Given the description of an element on the screen output the (x, y) to click on. 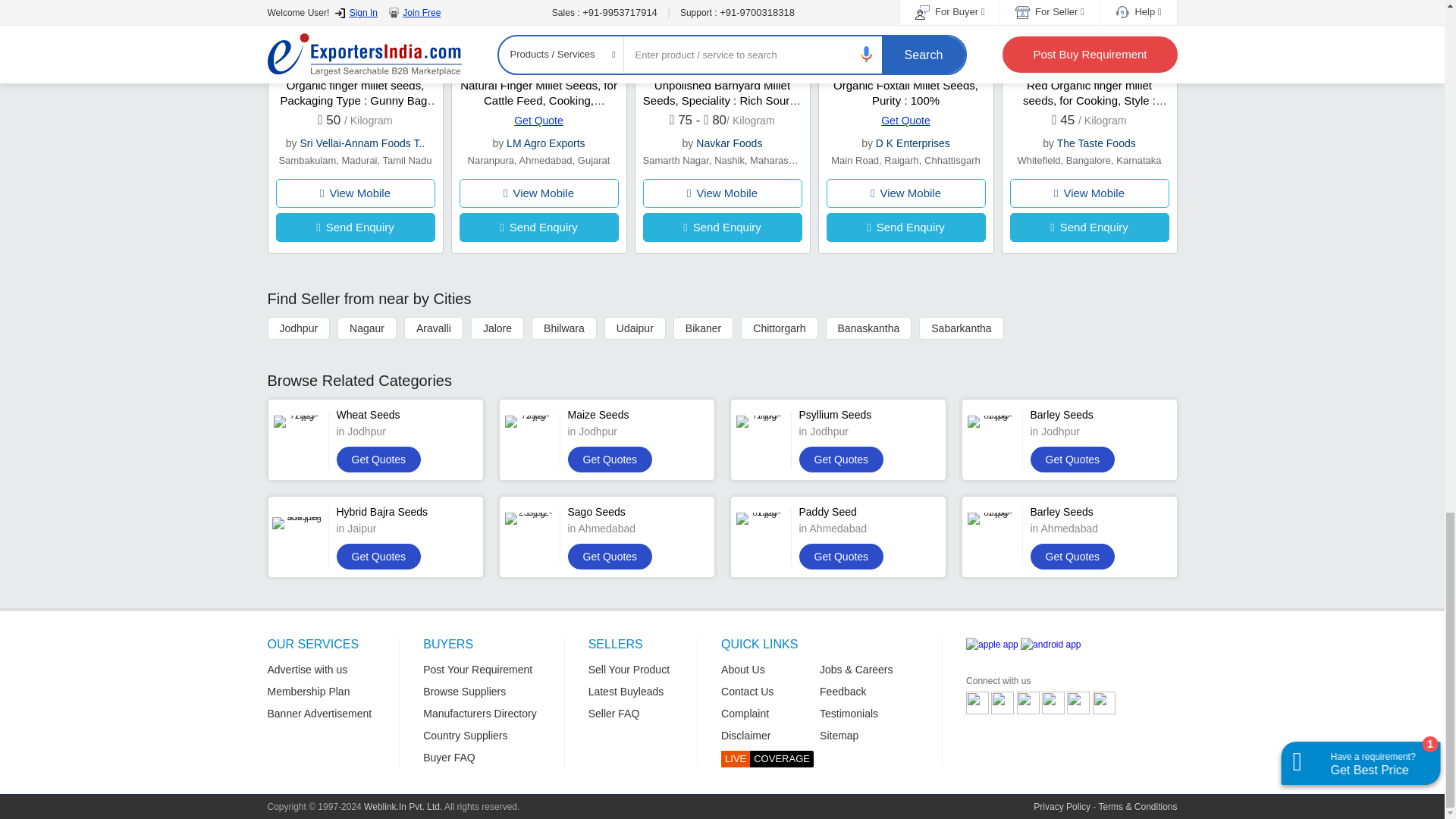
Red Organic finger millet seeds, for Cooking, Style : Dried (1095, 100)
